Given the description of an element on the screen output the (x, y) to click on. 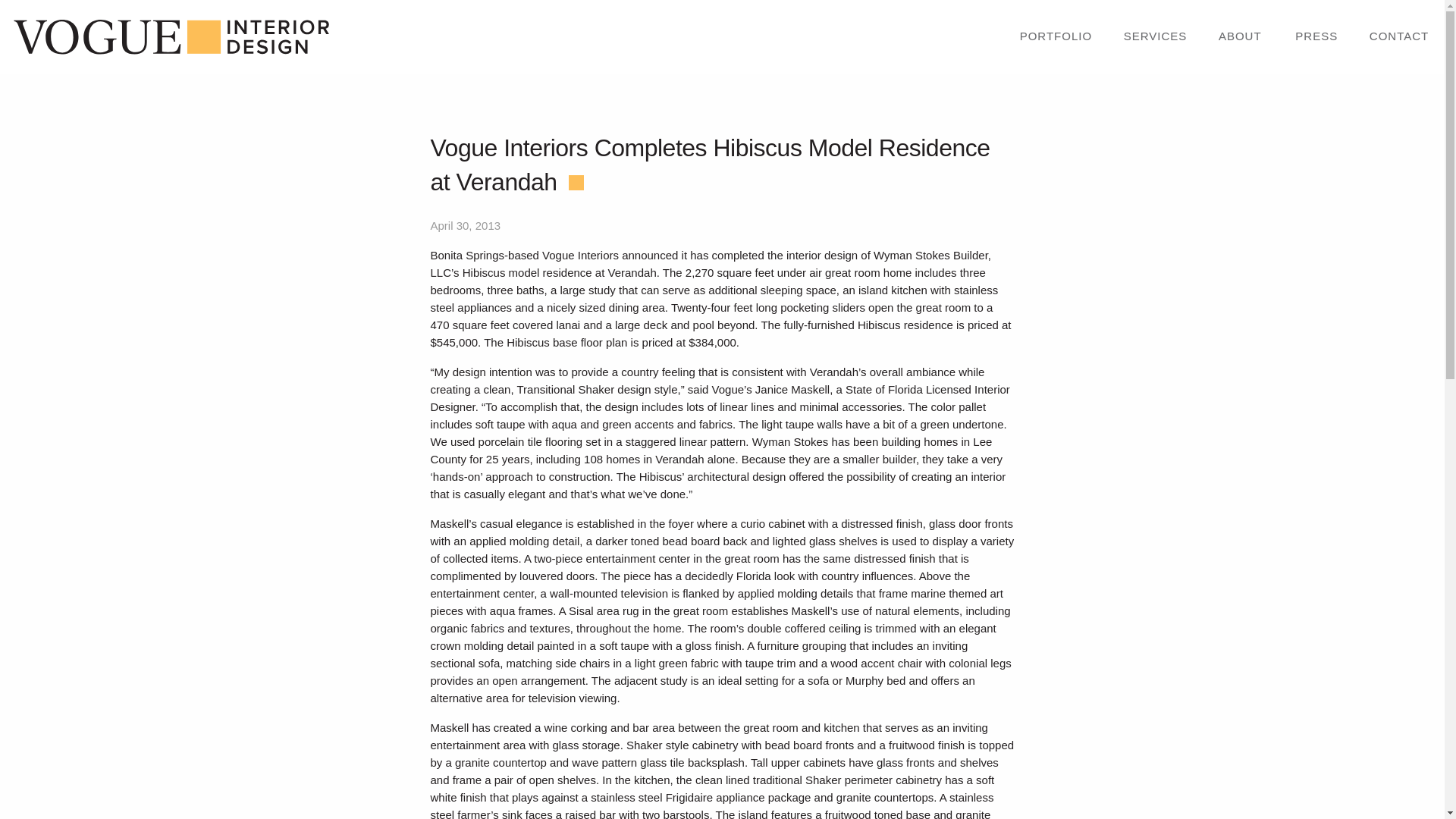
PRESS (1316, 37)
PORTFOLIO (1056, 37)
ABOUT (1240, 36)
SERVICES (1155, 37)
